Given the description of an element on the screen output the (x, y) to click on. 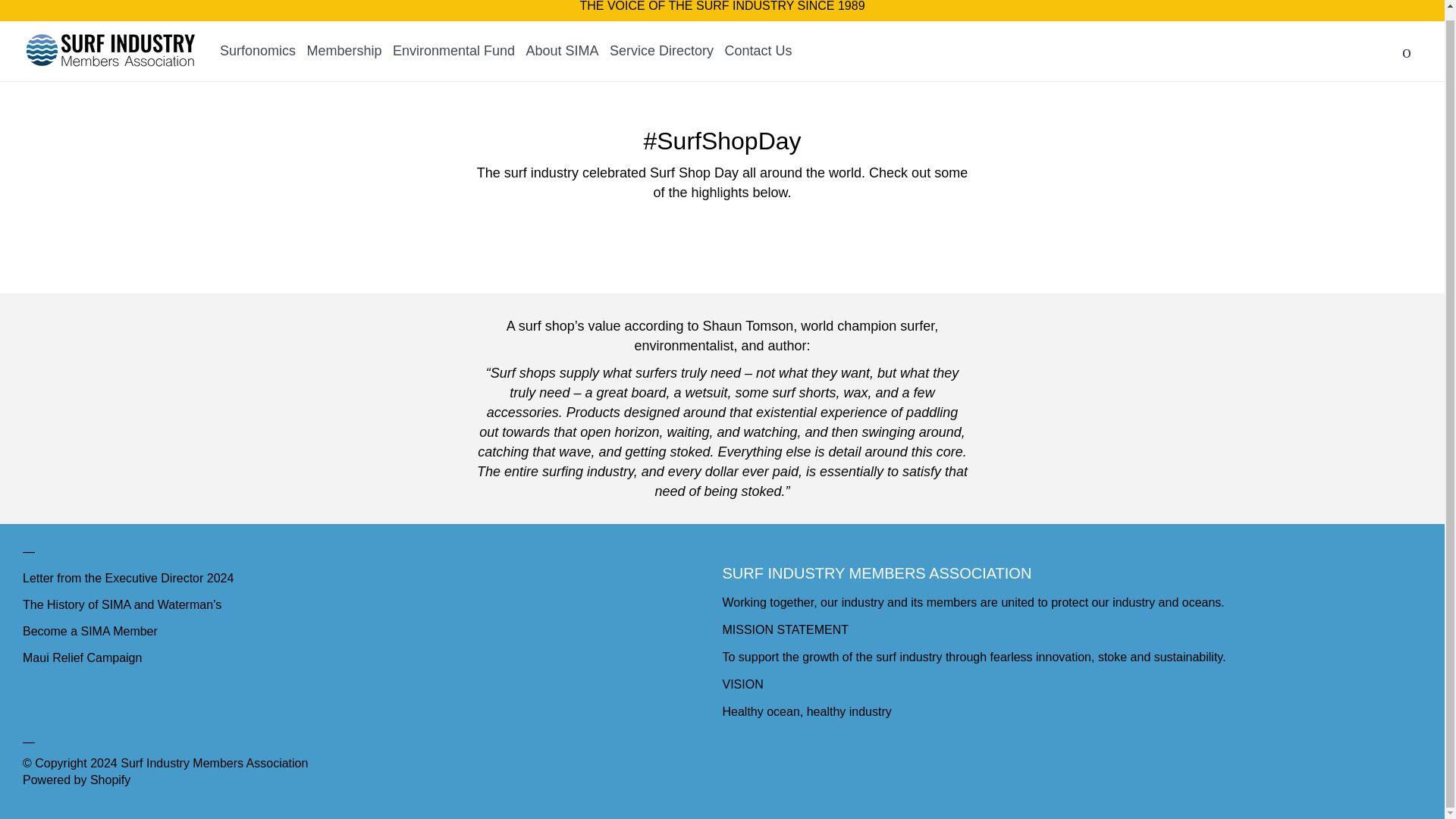
Environmental Fund (454, 50)
About SIMA (561, 50)
Surfonomics (257, 50)
Service Directory (661, 50)
Letter from the Executive Director 2024 (127, 577)
Become a SIMA Member (90, 631)
Contact Us (758, 50)
Surf Industry Members Association (213, 762)
Powered by Shopify (77, 779)
Membership (343, 50)
